Given the description of an element on the screen output the (x, y) to click on. 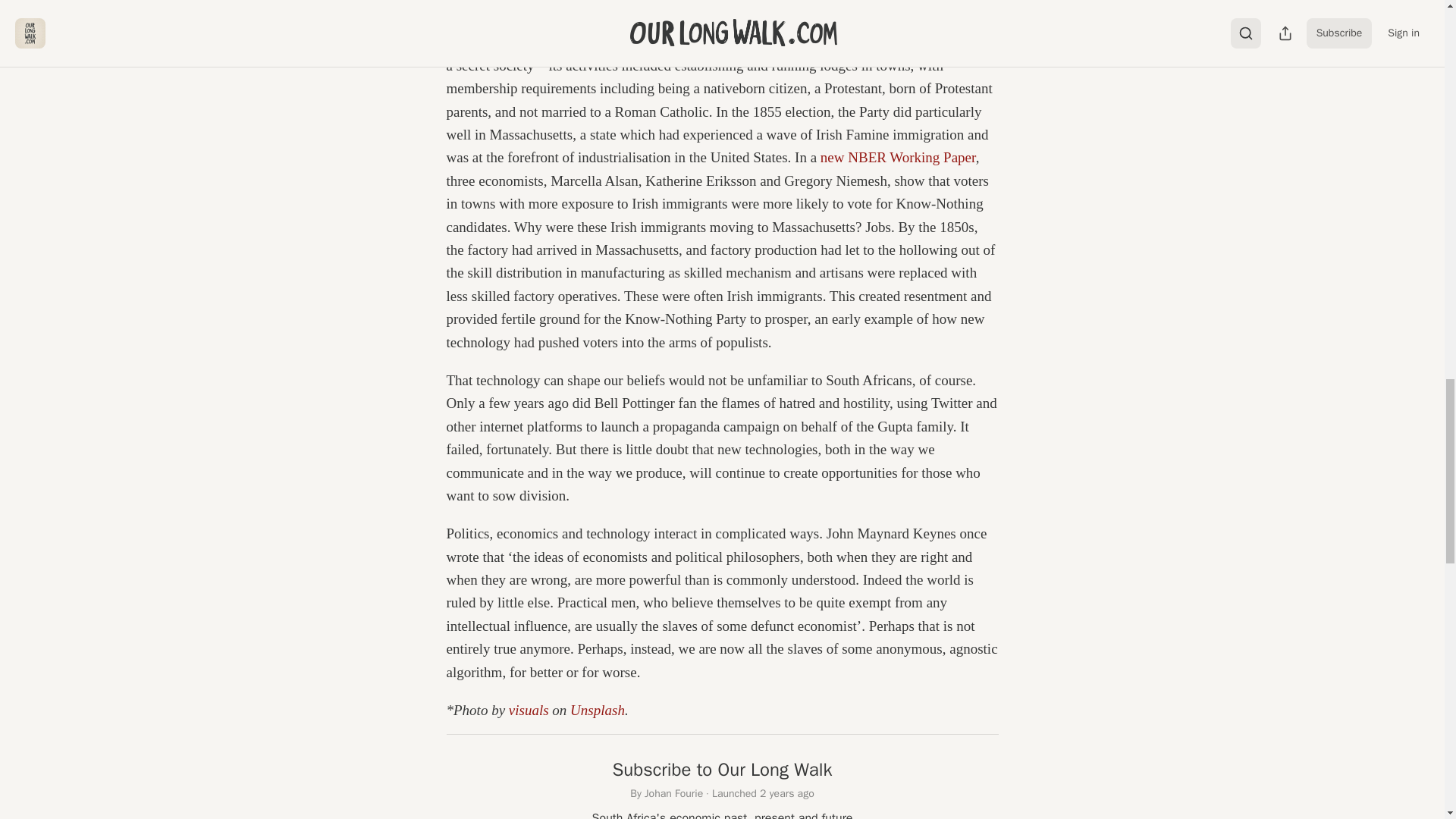
Unsplash (597, 709)
new NBER Working Paper (898, 157)
visuals (528, 709)
